Given the description of an element on the screen output the (x, y) to click on. 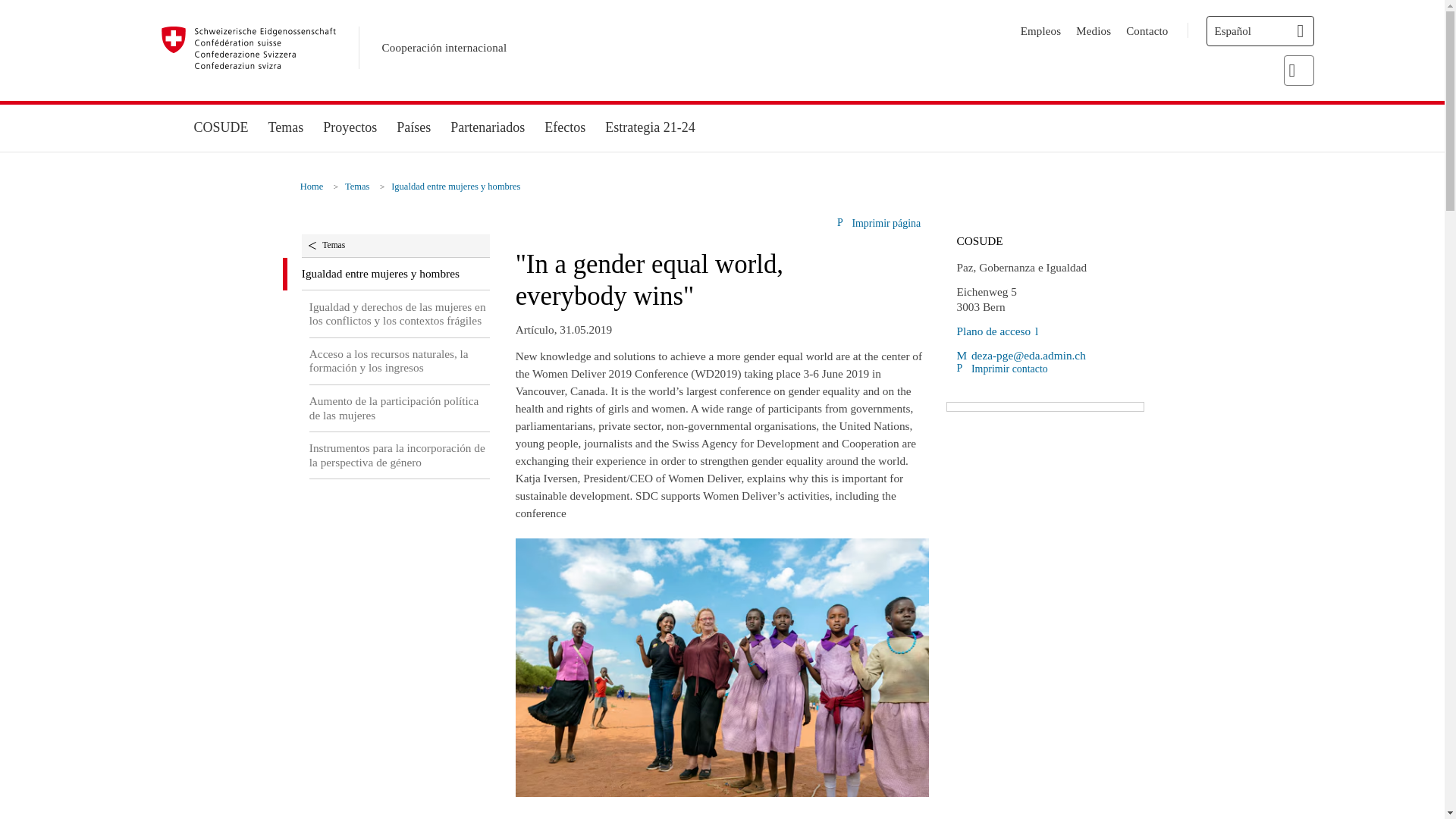
COSUDE (220, 127)
Empleos (1040, 30)
Contacto (1146, 30)
Temas (286, 127)
Texto oculto (997, 330)
Medios (1092, 30)
Texto oculto (1020, 354)
